Given the description of an element on the screen output the (x, y) to click on. 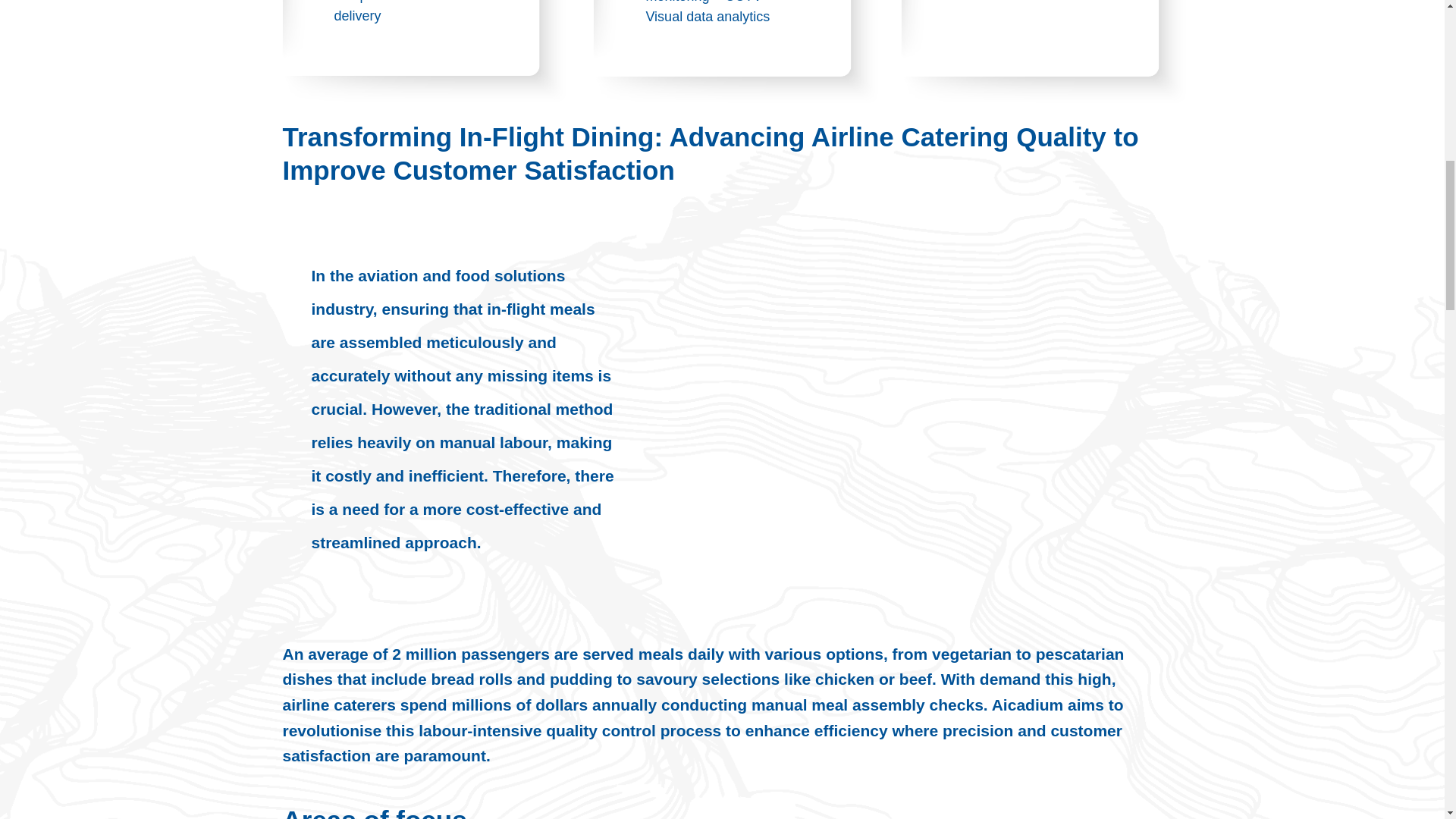
Scroll back to top (1406, 720)
